Given the description of an element on the screen output the (x, y) to click on. 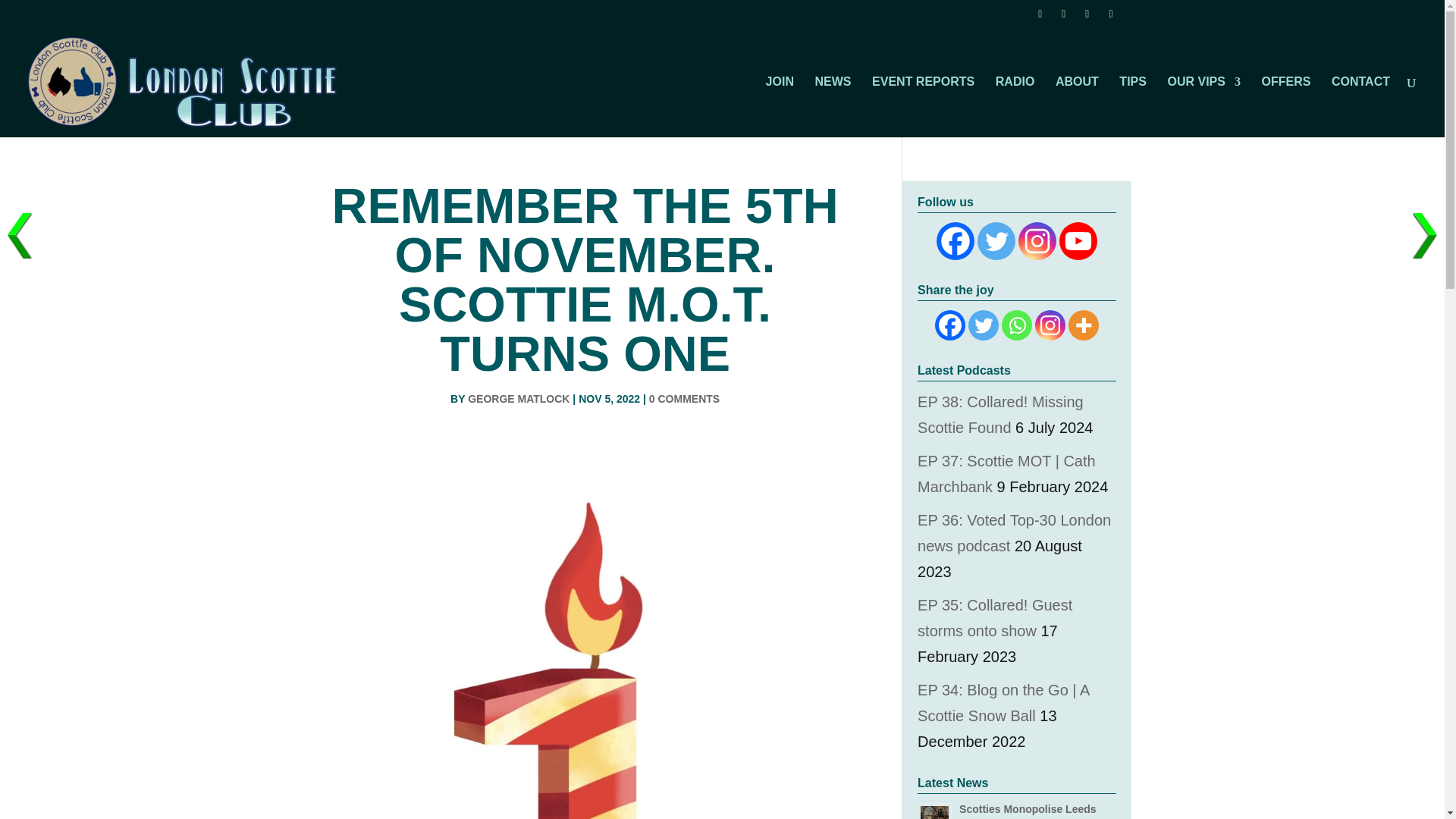
0 COMMENTS (684, 398)
Facebook (955, 240)
Twitter (995, 240)
OUR VIPS (1203, 106)
EVENT REPORTS (923, 106)
CONTACT (1361, 106)
GEORGE MATLOCK (518, 398)
